Given the description of an element on the screen output the (x, y) to click on. 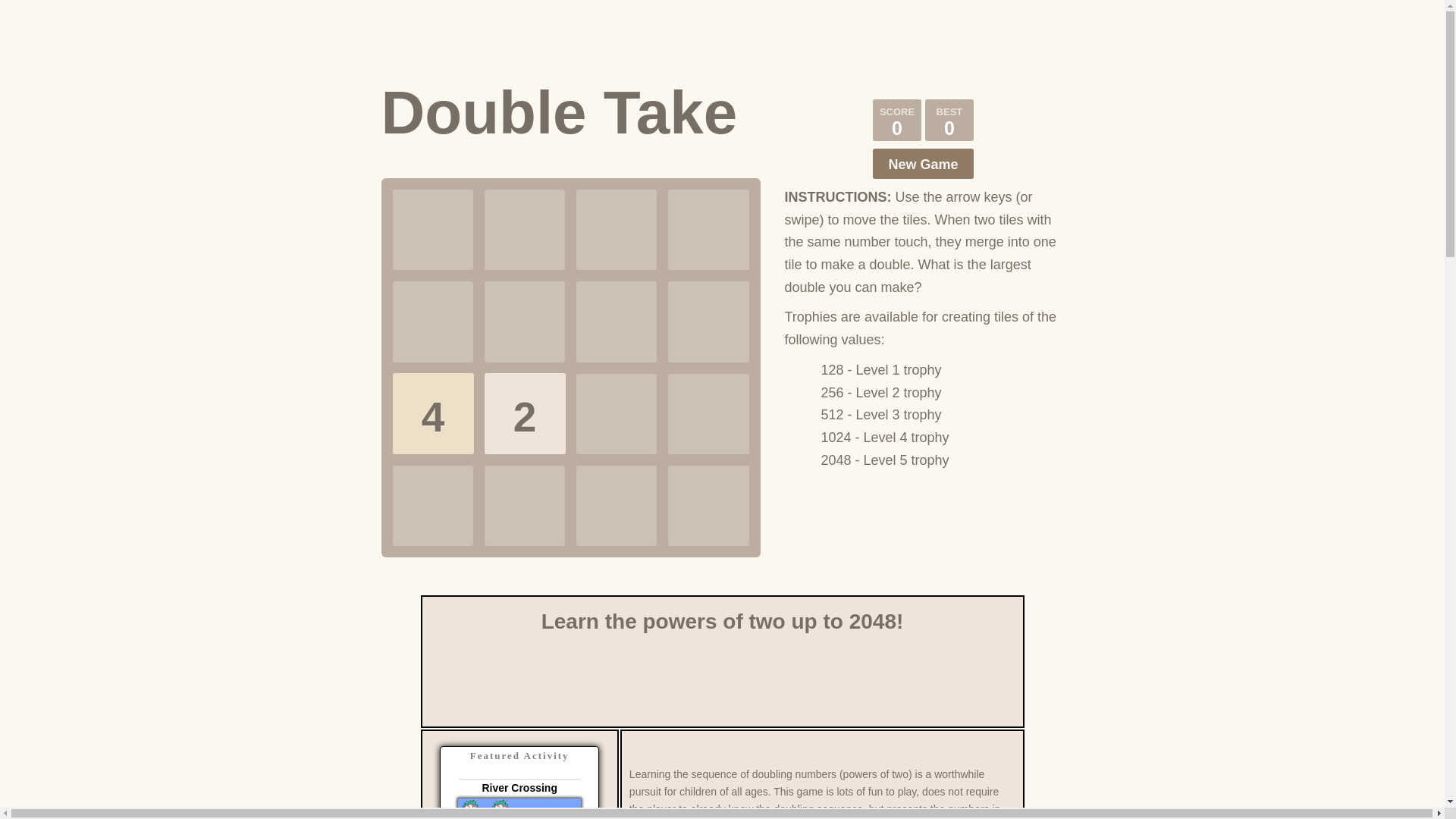
Advertisement (721, 39)
New Game (922, 163)
Advertisement (721, 680)
